Given the description of an element on the screen output the (x, y) to click on. 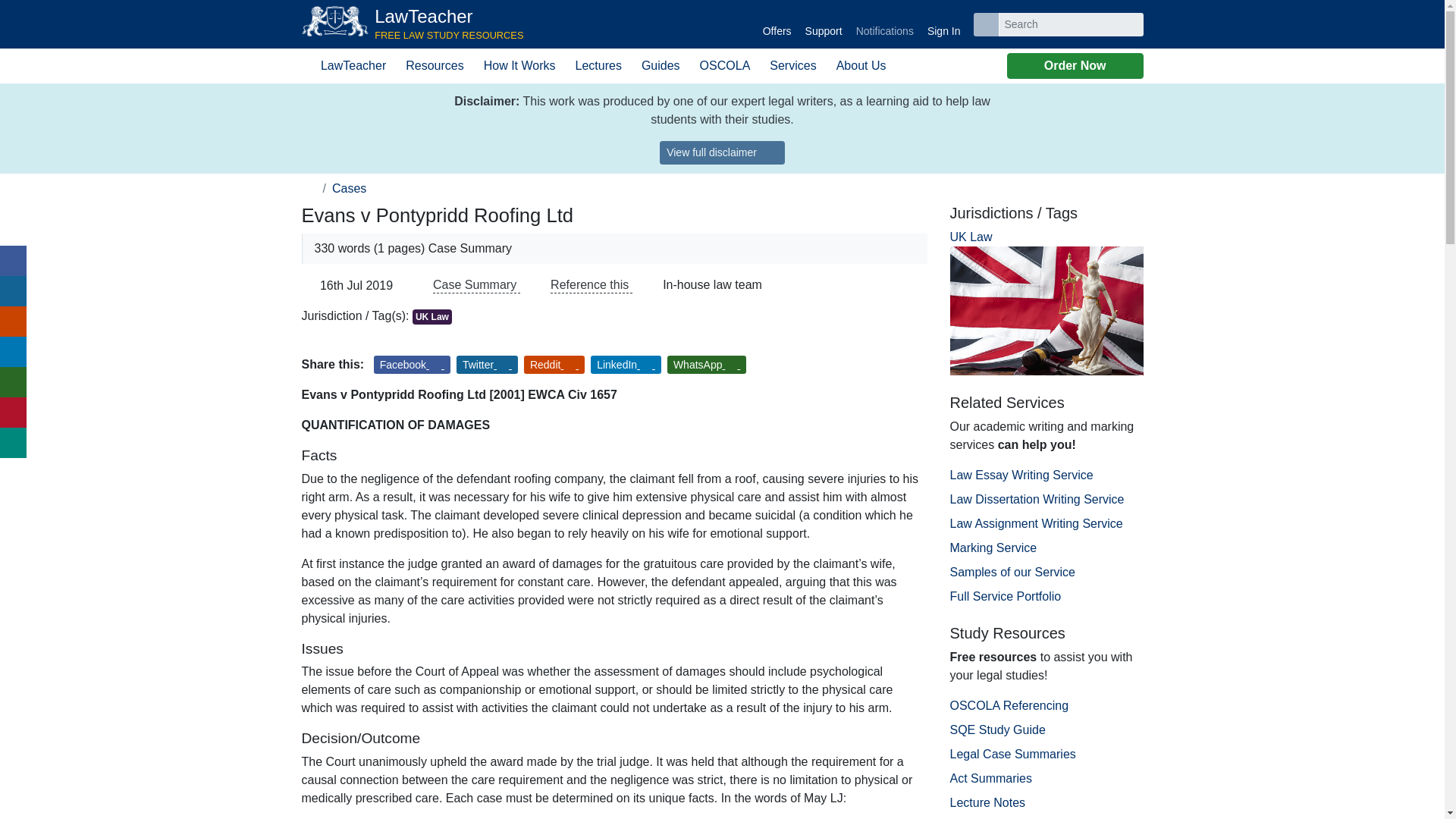
Support (822, 23)
View full disclaimer (412, 23)
Sign In (721, 152)
homepage link (944, 23)
Go to the LawTeacher homepage (309, 187)
Notifications (412, 23)
Offers (884, 23)
